Given the description of an element on the screen output the (x, y) to click on. 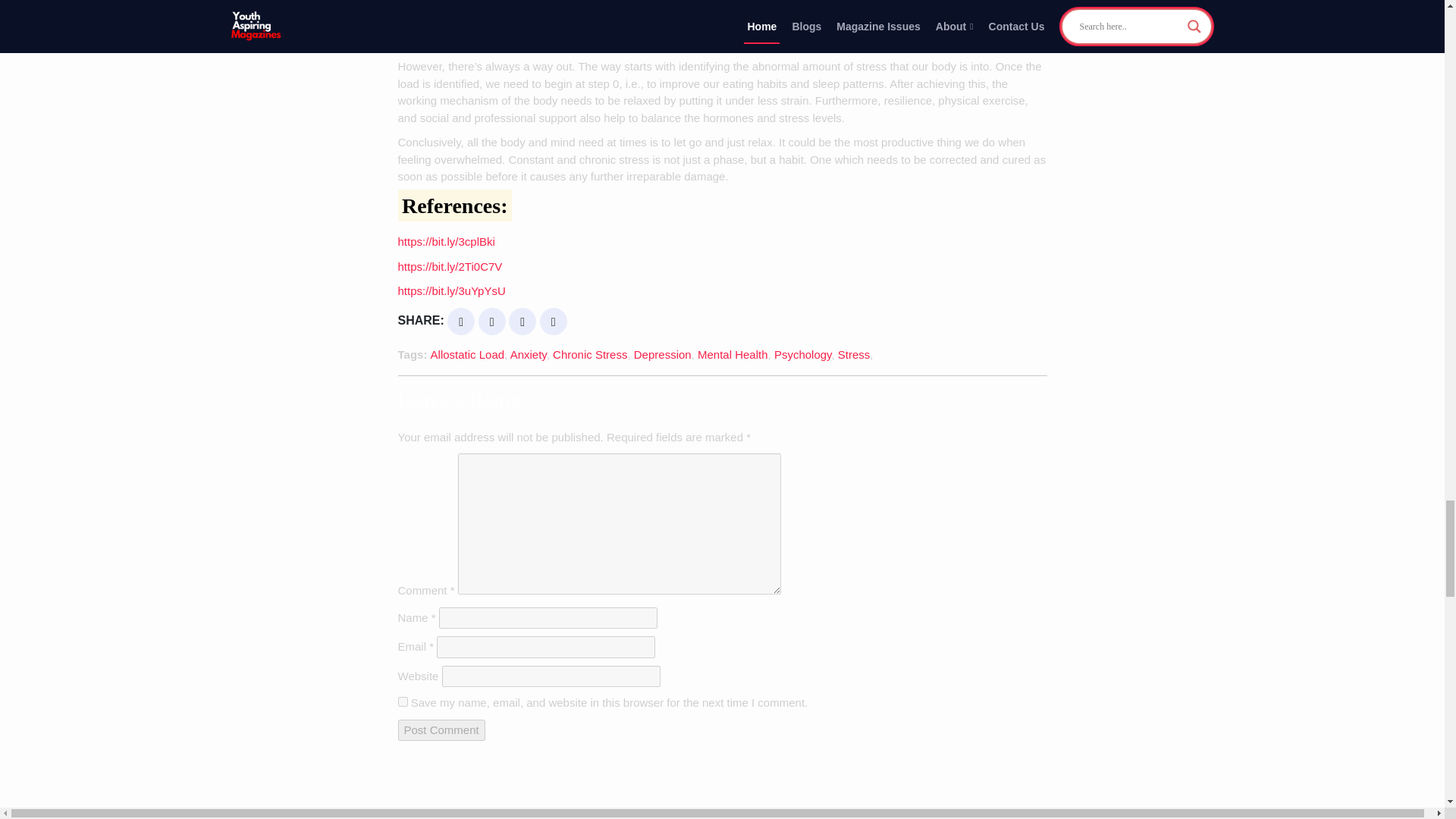
Depression (662, 354)
Chronic Stress (590, 354)
Anxiety (529, 354)
Post Comment (440, 730)
Mental Health (732, 354)
Allostatic Load (467, 354)
Post Comment (440, 730)
Psychology (802, 354)
Stress (854, 354)
yes (402, 701)
